Given the description of an element on the screen output the (x, y) to click on. 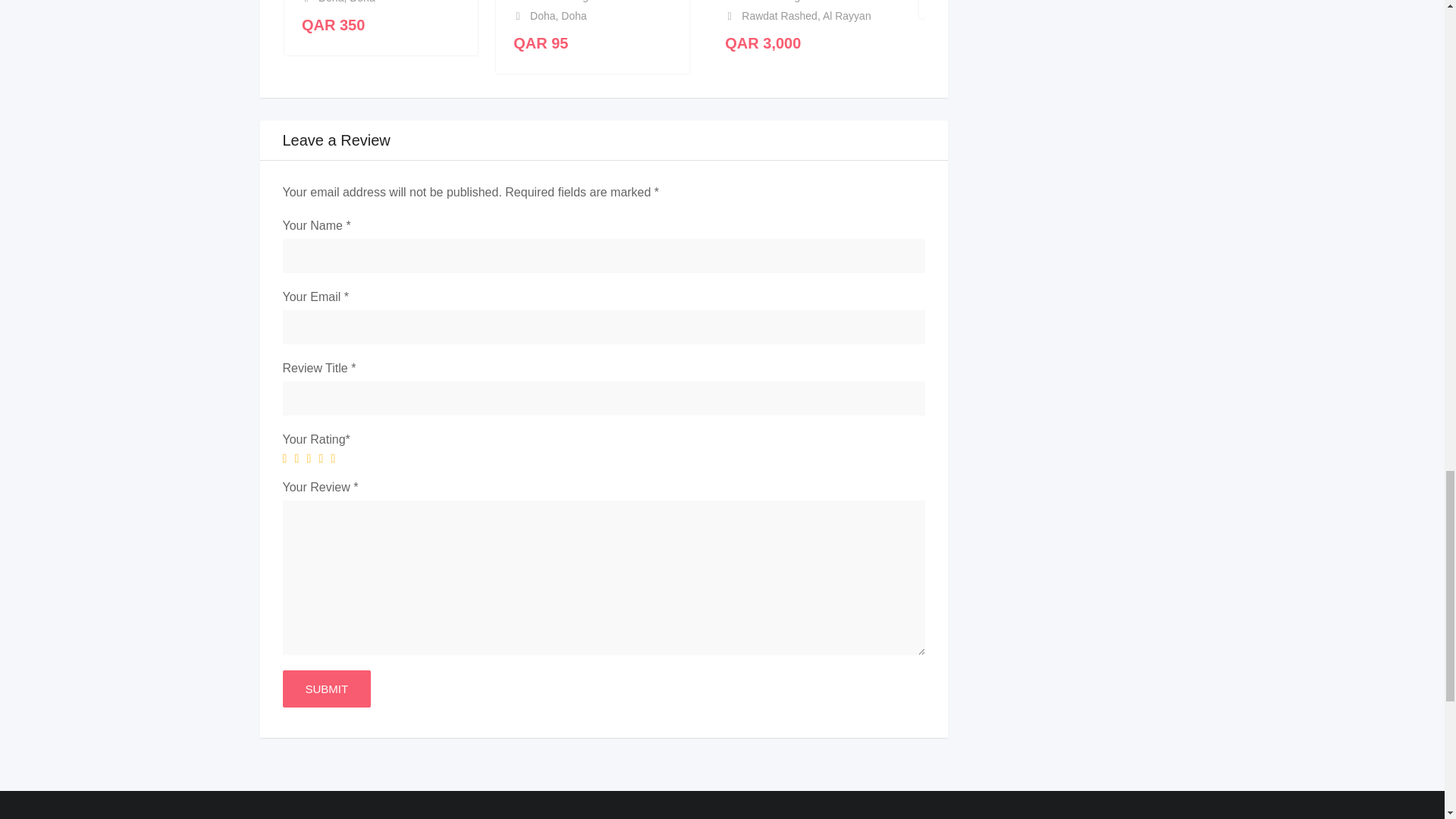
Submit (326, 688)
